Given the description of an element on the screen output the (x, y) to click on. 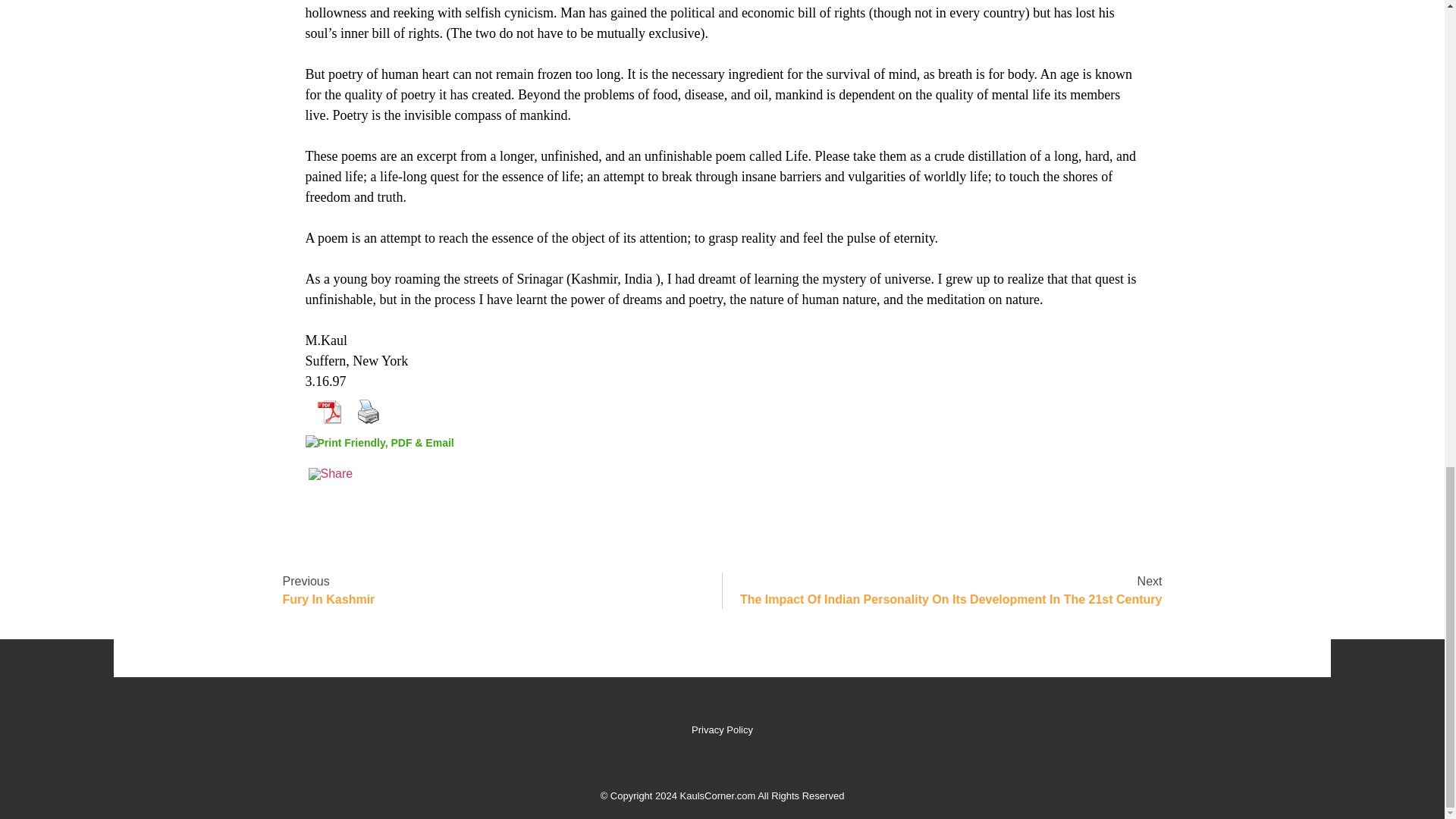
View PDF (328, 411)
Print Content (368, 411)
Privacy Policy (494, 590)
